Given the description of an element on the screen output the (x, y) to click on. 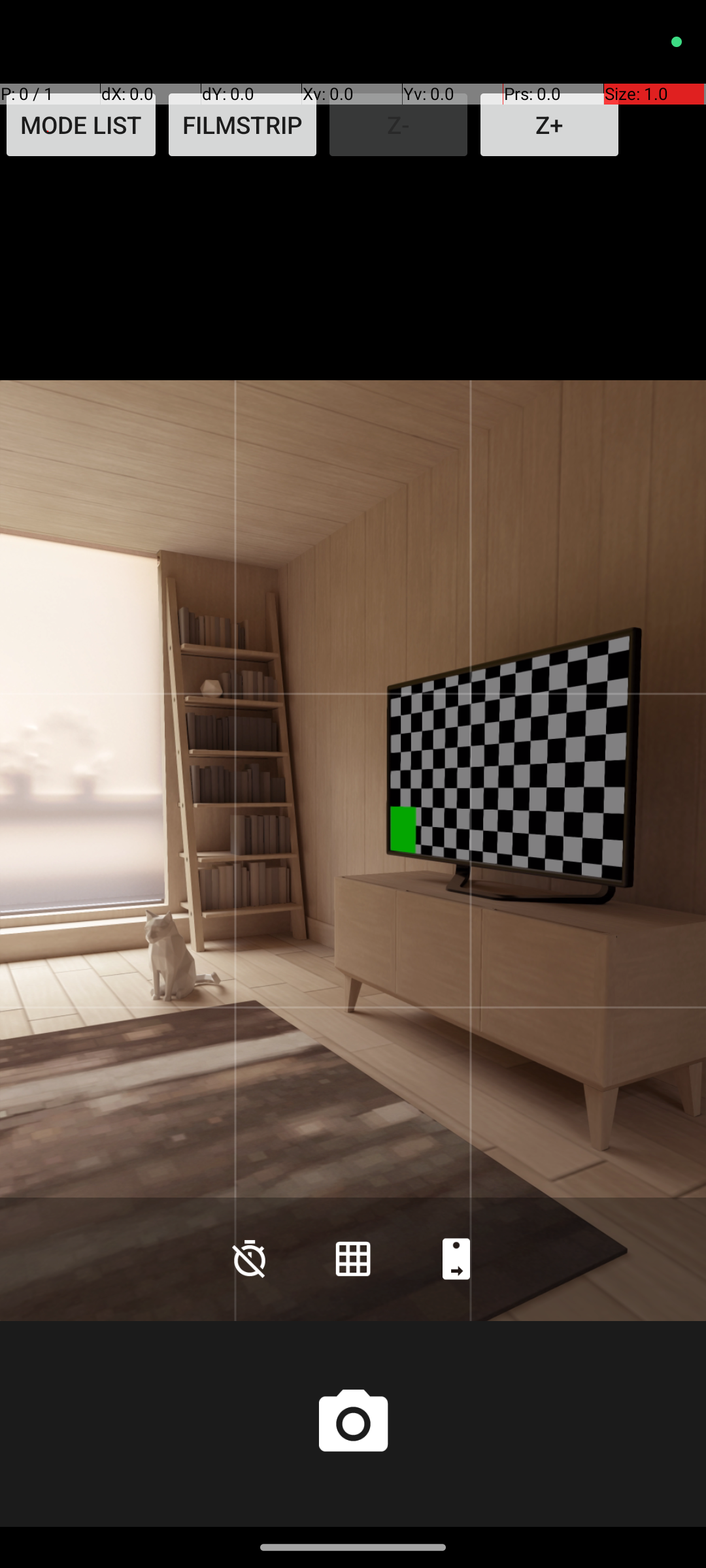
Shutter Element type: android.widget.ImageView (353, 1423)
MODE LIST Element type: android.widget.Button (81, 124)
FILMSTRIP Element type: android.widget.Button (242, 124)
Z- Element type: android.widget.Button (397, 124)
Z+ Element type: android.widget.Button (548, 124)
Countdown timer is off Element type: android.widget.ImageButton (249, 1258)
Grid lines on Element type: android.widget.ImageButton (352, 1258)
Back camera Element type: android.widget.ImageButton (456, 1258)
